Given the description of an element on the screen output the (x, y) to click on. 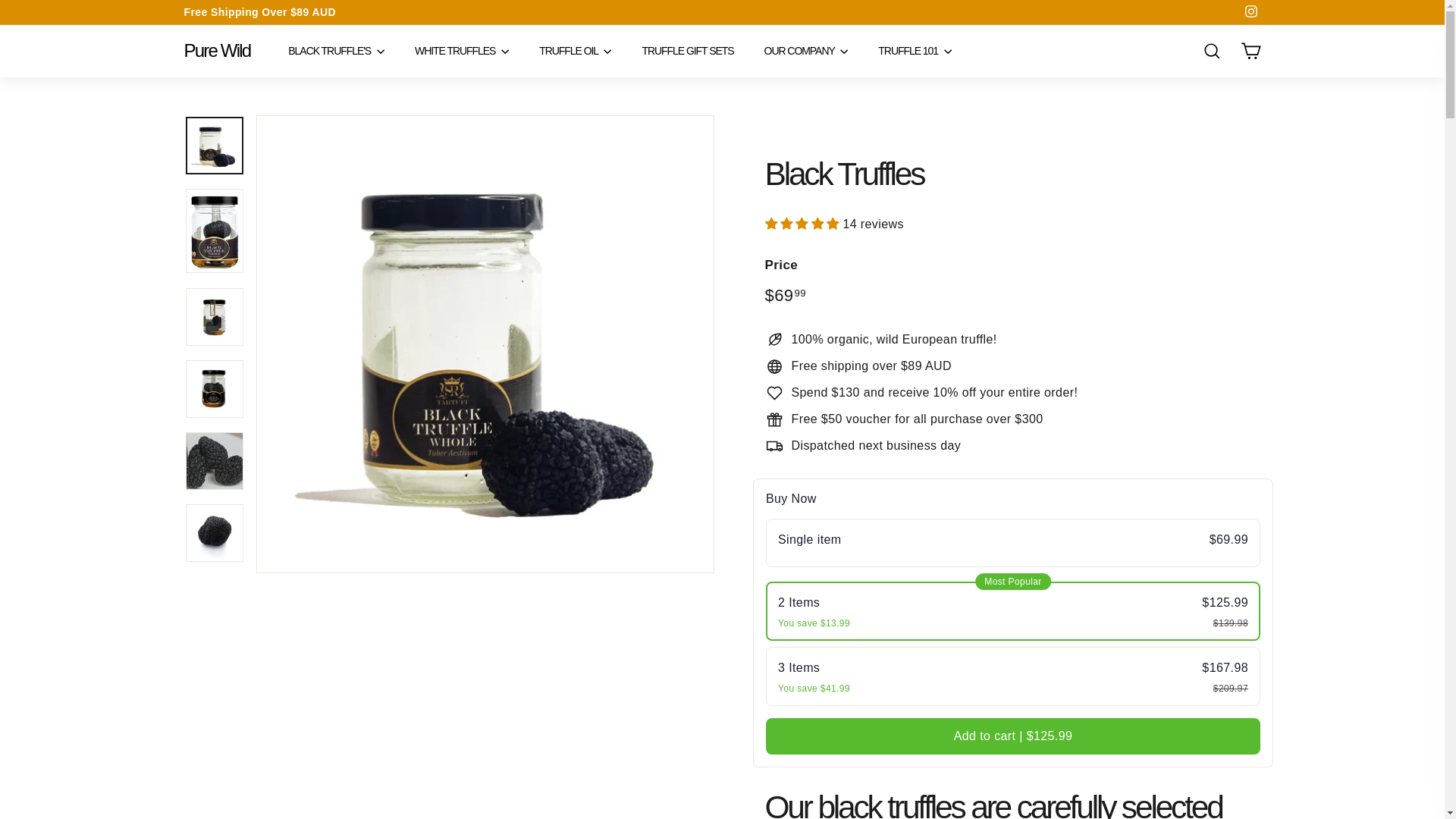
instagram (1250, 10)
Pure Wild (216, 50)
TRUFFLE GIFT SETS (687, 50)
